Given the description of an element on the screen output the (x, y) to click on. 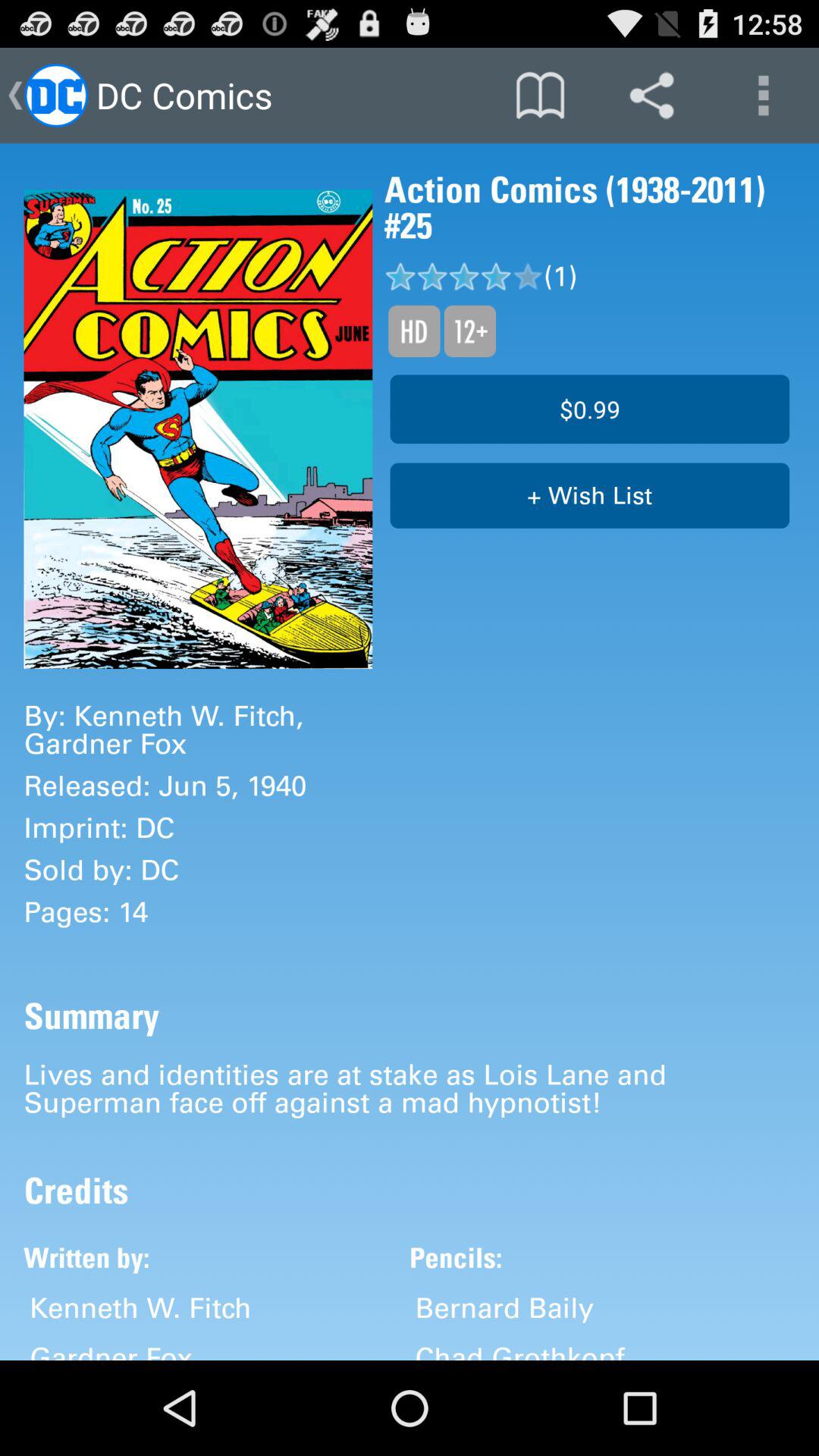
choose $0.99 (589, 409)
